Given the description of an element on the screen output the (x, y) to click on. 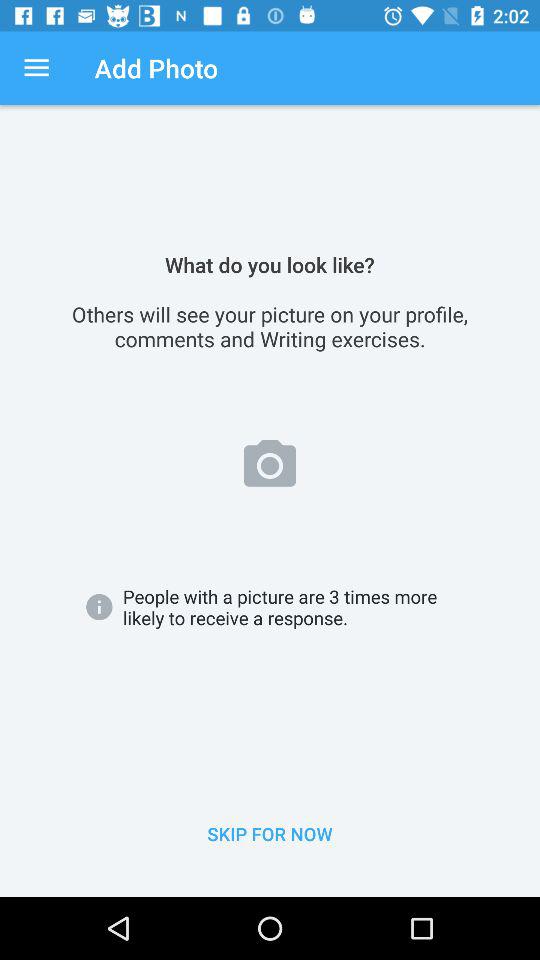
scroll until the skip for now icon (269, 833)
